Given the description of an element on the screen output the (x, y) to click on. 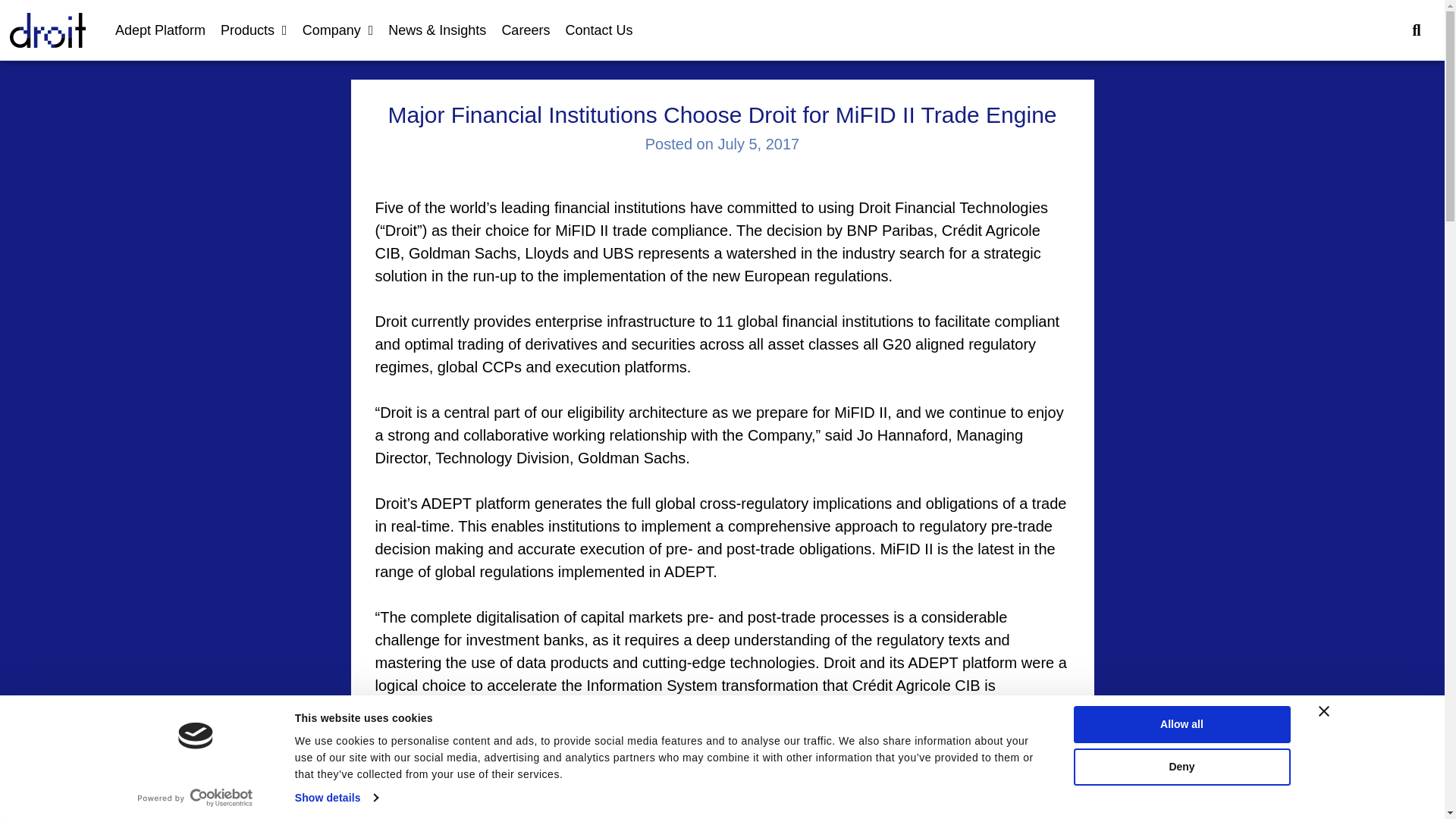
Show details (336, 797)
